Given the description of an element on the screen output the (x, y) to click on. 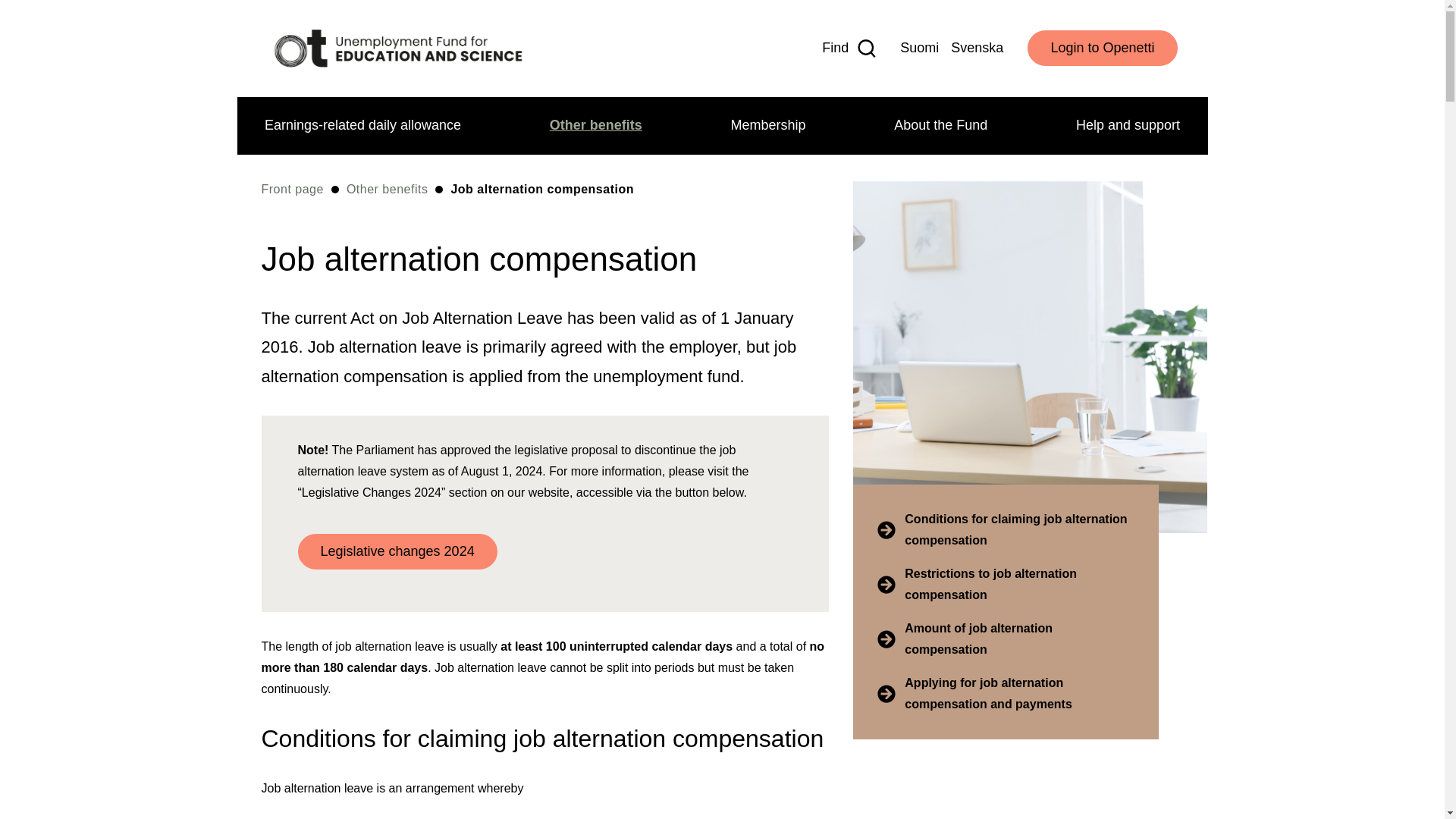
Find (849, 48)
Earnings-related daily allowance (362, 125)
Svenska (976, 48)
Login to Openetti (1101, 48)
Front page (397, 47)
Suomi (919, 48)
